Given the description of an element on the screen output the (x, y) to click on. 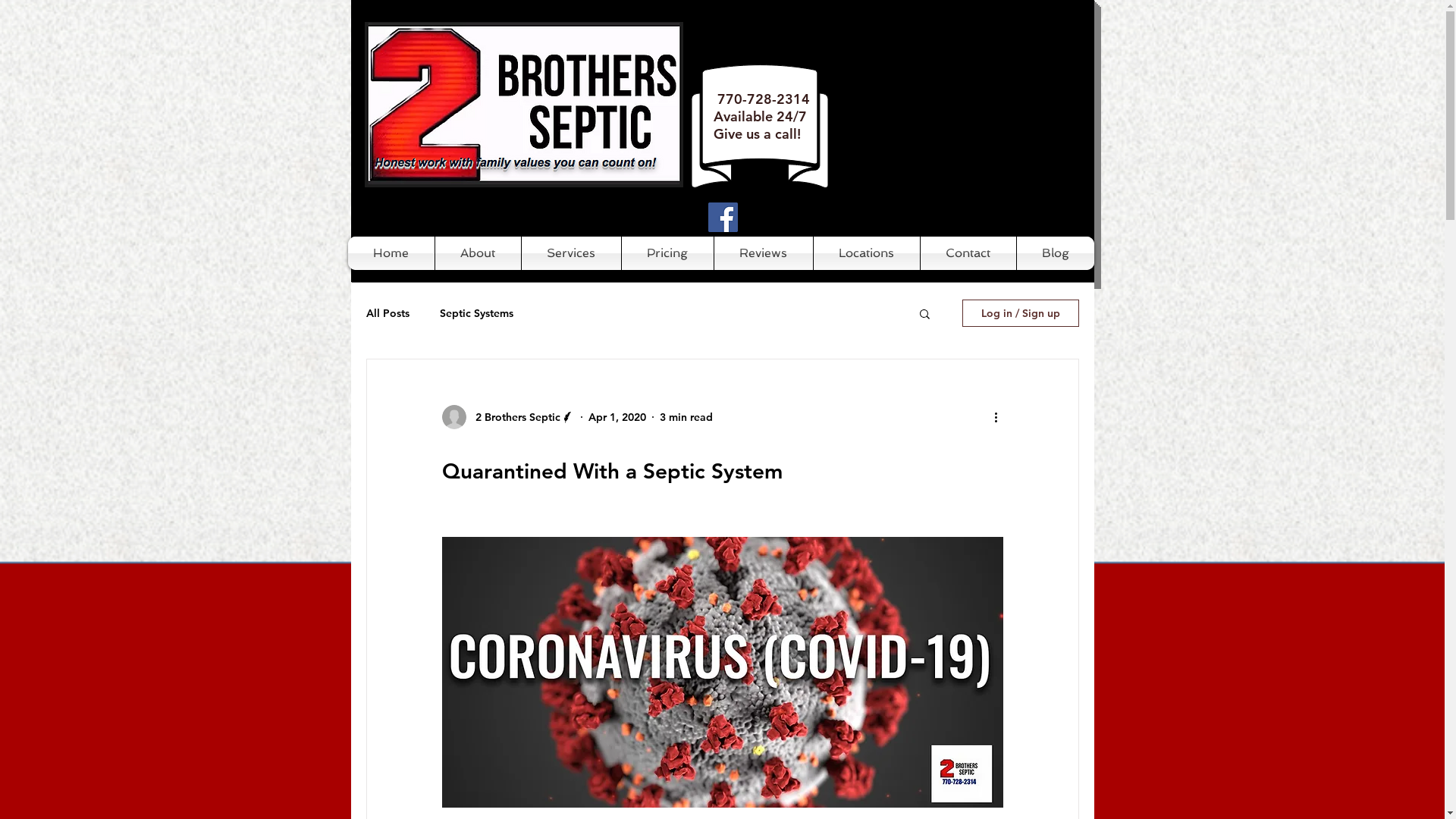
Home Element type: text (390, 252)
Pricing Element type: text (667, 252)
Locations Element type: text (865, 252)
Septic Systems Element type: text (476, 313)
770-728-2314 Element type: text (763, 98)
About Element type: text (477, 252)
Log in / Sign up Element type: text (1019, 312)
Blog Element type: text (1054, 252)
Contact Element type: text (968, 252)
Facebook Like Element type: hover (829, 224)
All Posts Element type: text (386, 313)
Services Element type: text (571, 252)
Reviews Element type: text (763, 252)
